Given the description of an element on the screen output the (x, y) to click on. 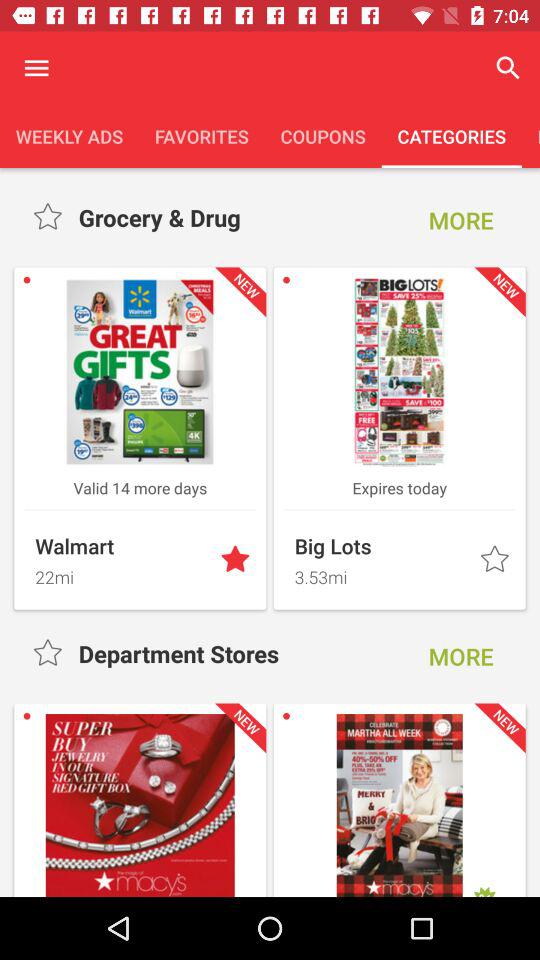
toggle menu bar (36, 68)
